Given the description of an element on the screen output the (x, y) to click on. 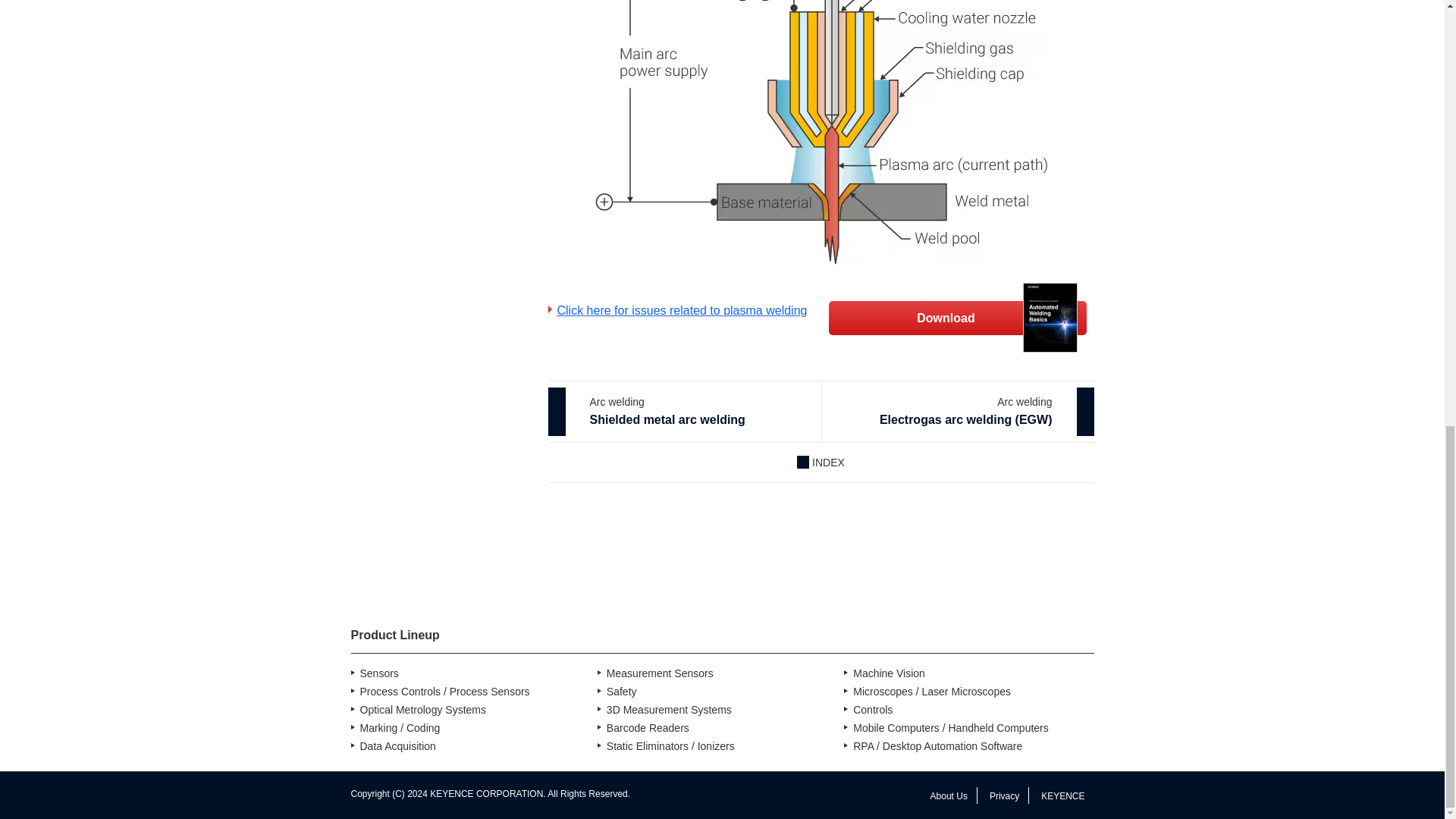
INDEX (820, 462)
Download (957, 317)
Click here for issues related to plasma welding (676, 310)
